Given the description of an element on the screen output the (x, y) to click on. 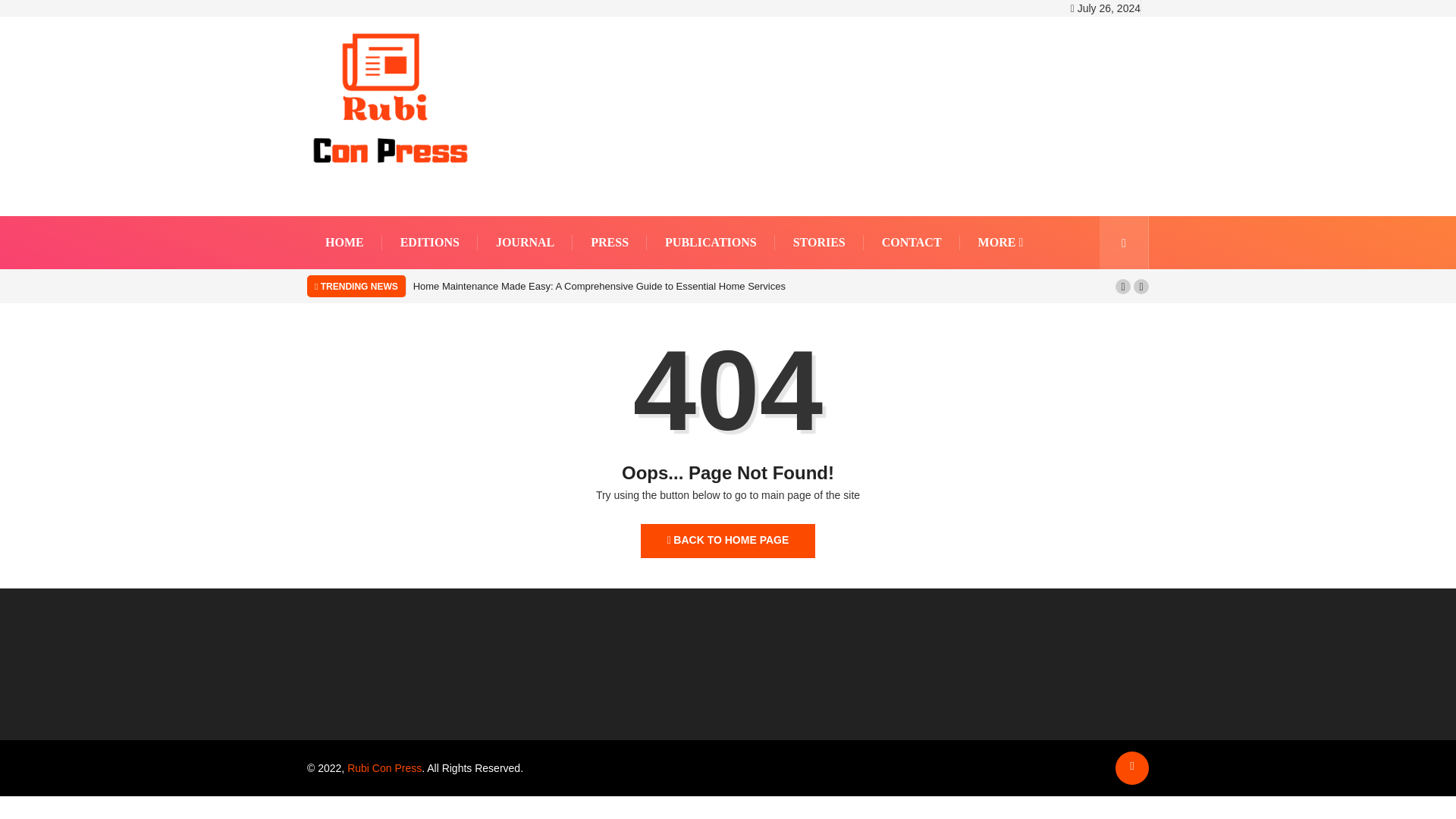
PUBLICATIONS (711, 242)
Rubi Con Press (384, 767)
BACK TO HOME PAGE (727, 540)
JOURNAL (525, 242)
STORIES (819, 242)
popup modal for search (1123, 242)
CONTACT (912, 242)
EDITIONS (430, 242)
